Given the description of an element on the screen output the (x, y) to click on. 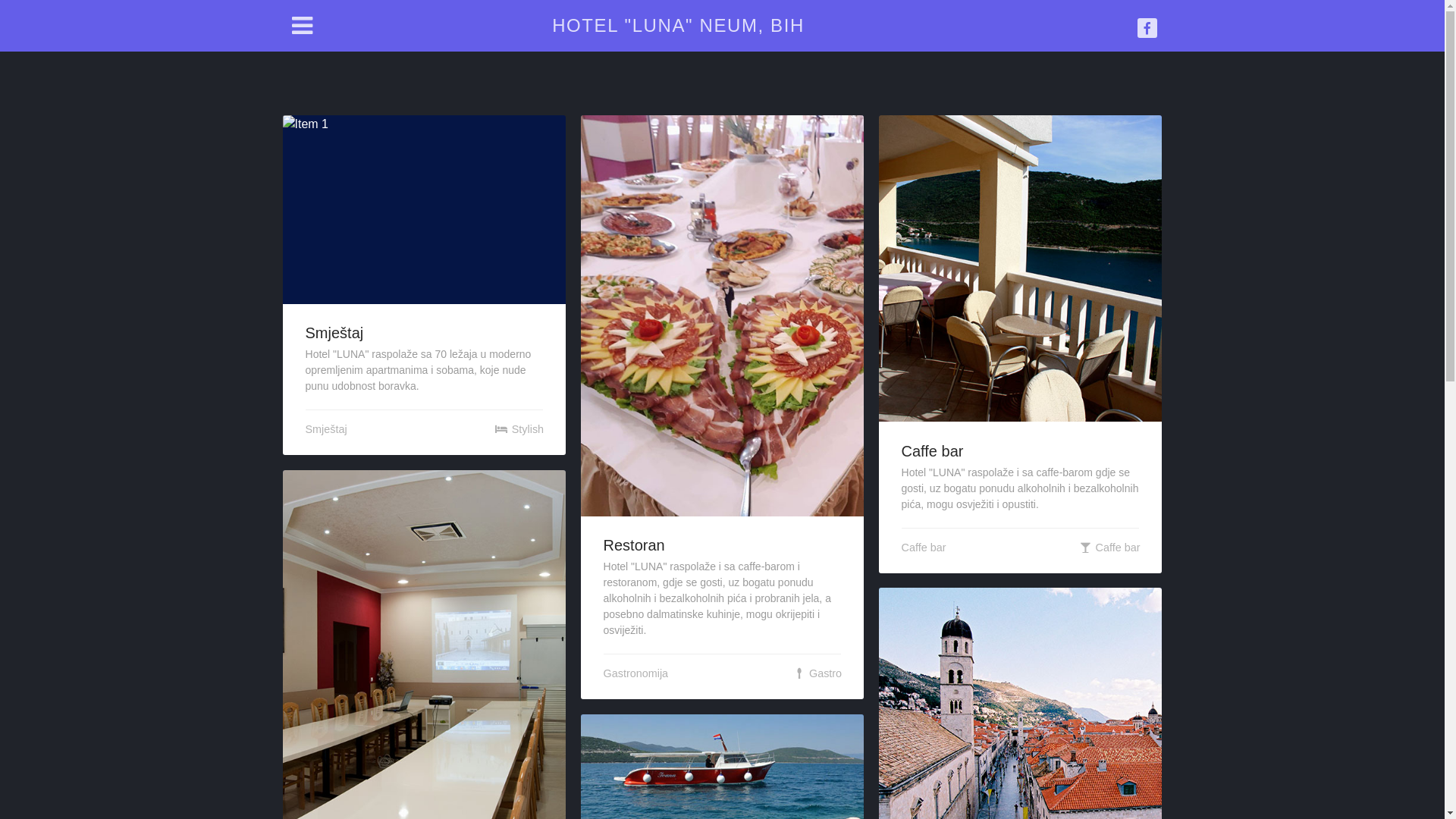
Restoran Element type: text (634, 544)
Caffe bar Element type: text (932, 450)
HOTEL "LUNA" NEUM, BIH Element type: text (678, 25)
